Given the description of an element on the screen output the (x, y) to click on. 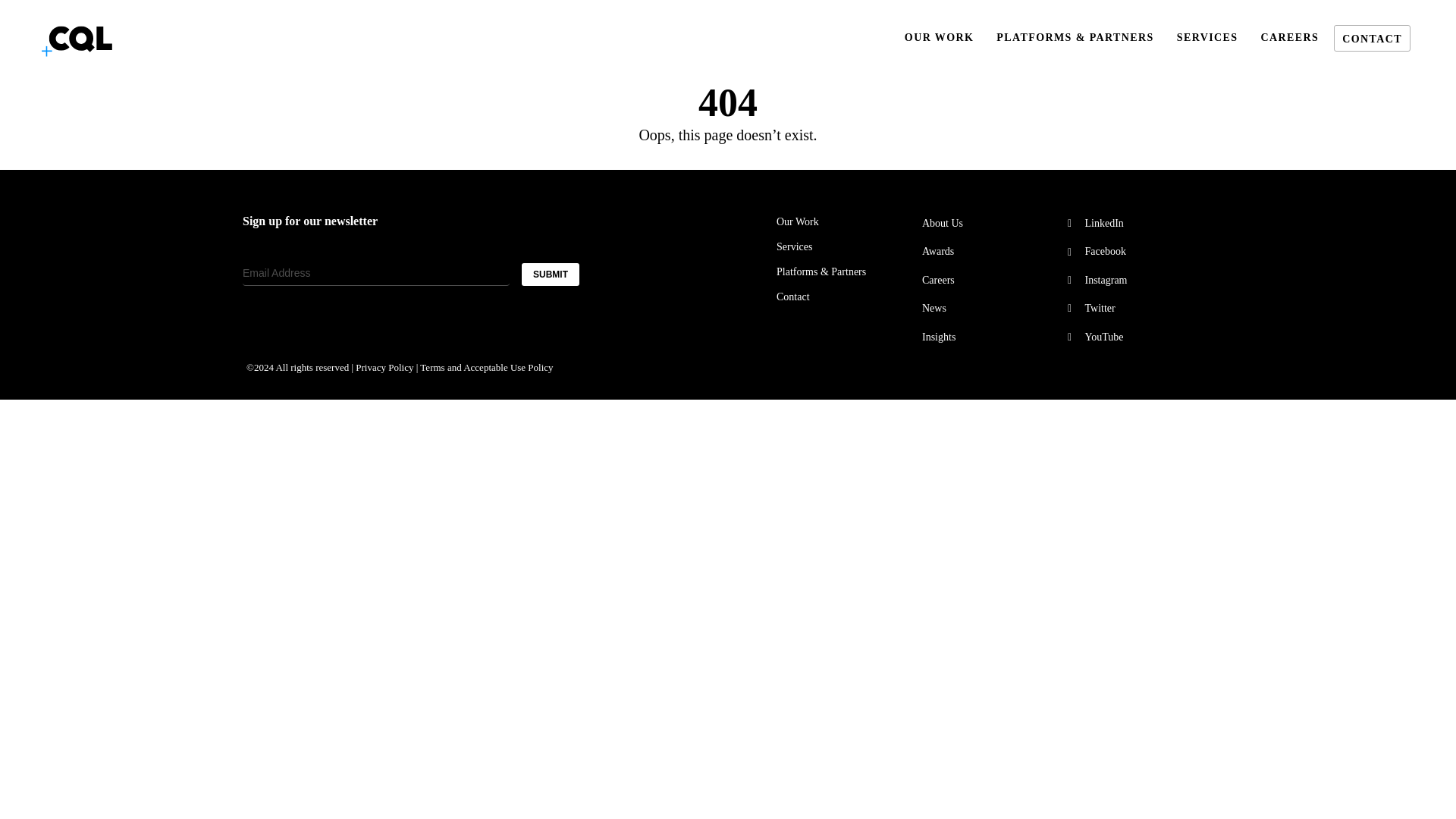
Awards (990, 251)
Careers (990, 280)
Insights (990, 337)
Submit (32, 11)
News (990, 308)
SERVICES (1207, 38)
CAREERS (1289, 38)
Twitter (1136, 308)
LinkedIn (1136, 223)
Services (845, 246)
Instagram (1136, 280)
YouTube (1136, 337)
Privacy Policy (384, 367)
Our Work (845, 222)
Terms and Acceptable Use Policy (486, 367)
